Given the description of an element on the screen output the (x, y) to click on. 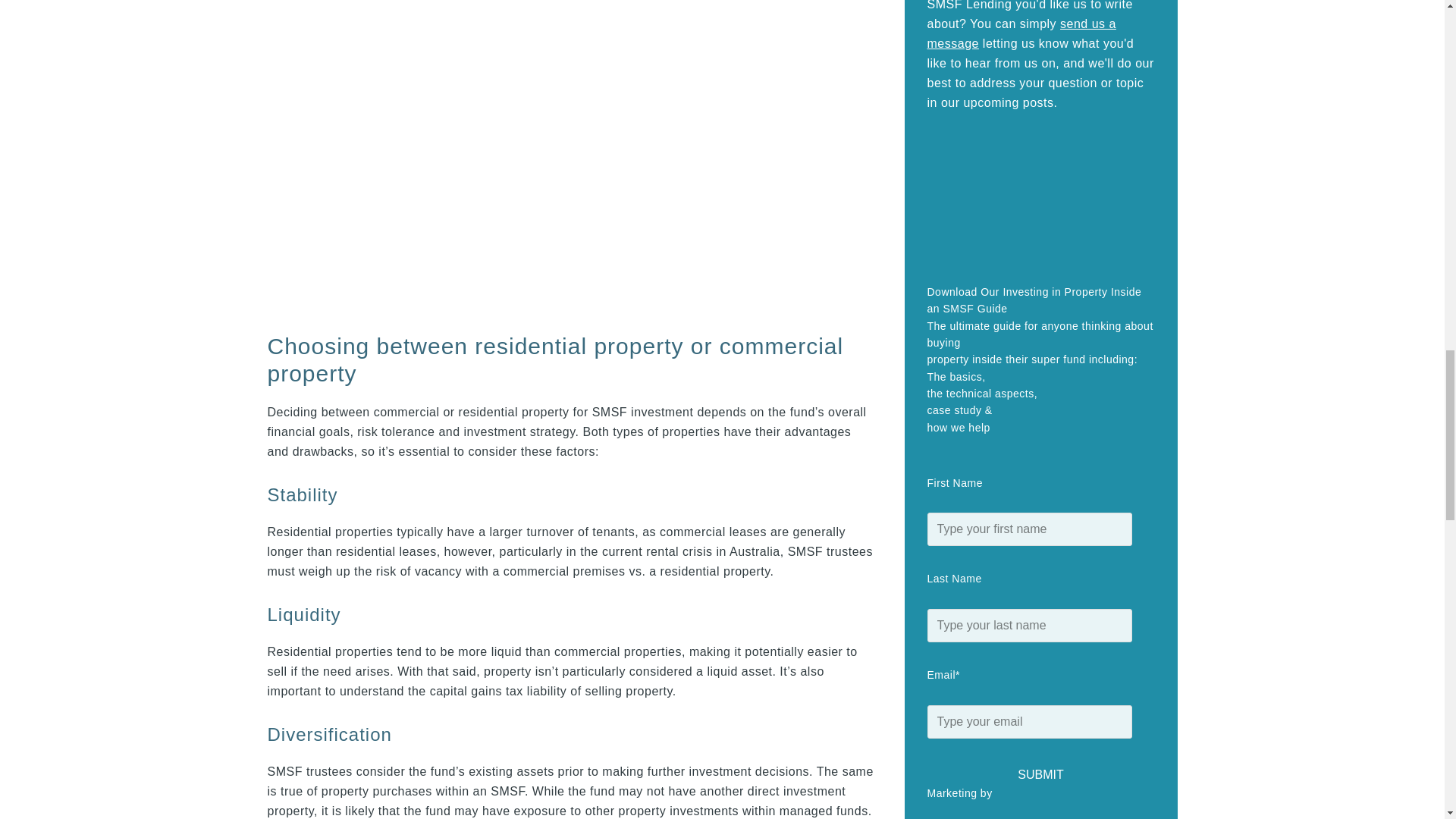
send us a message (1020, 33)
SUBMIT (1040, 765)
